Given the description of an element on the screen output the (x, y) to click on. 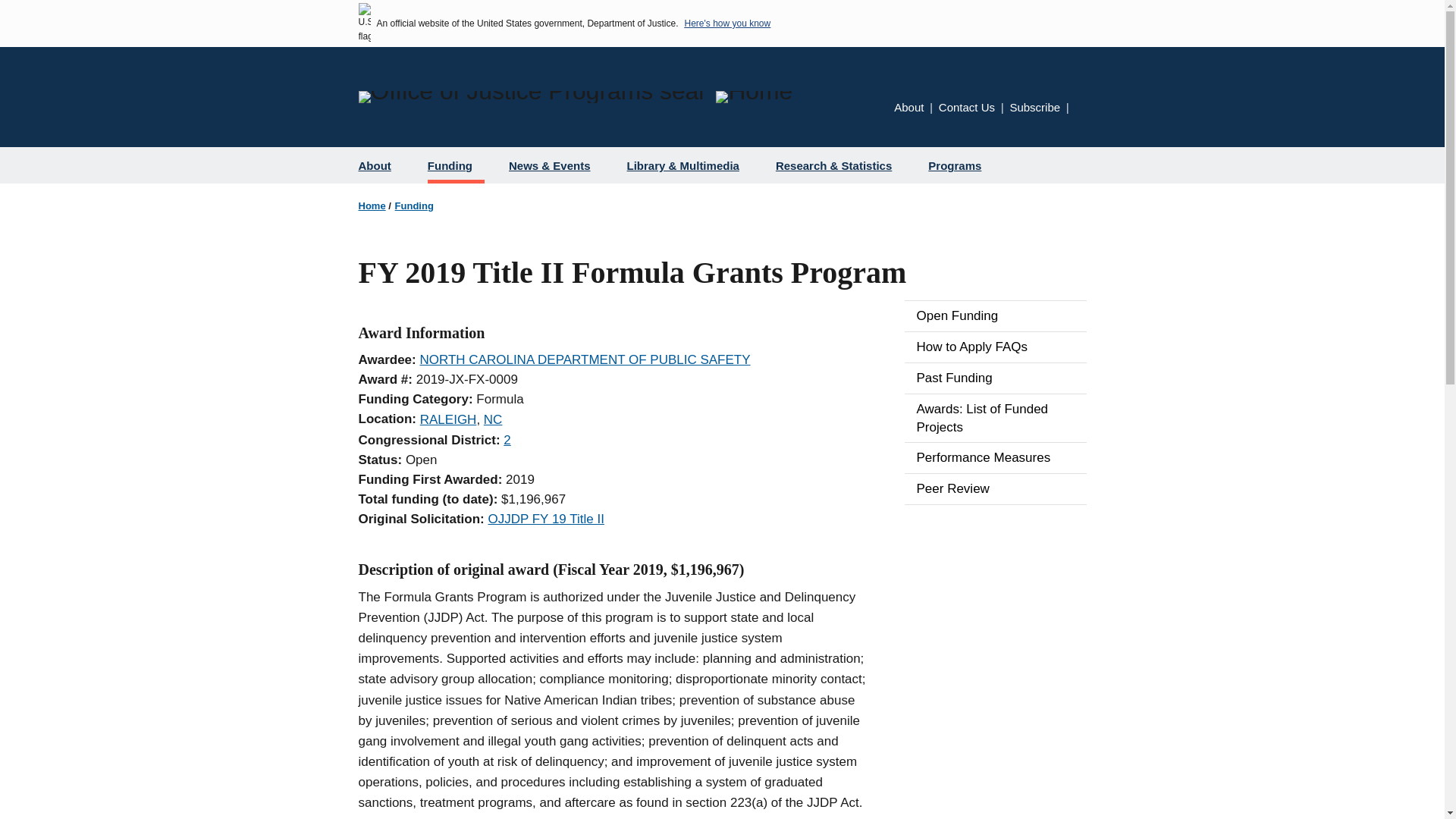
Open Funding (995, 316)
Home (371, 205)
OJJDP FY 19 Title II (545, 518)
Contact Us (966, 107)
Performance Measures (995, 458)
Programs (960, 165)
RALEIGH (448, 419)
About (380, 165)
Here's how you know (727, 23)
Funding (413, 205)
